Given the description of an element on the screen output the (x, y) to click on. 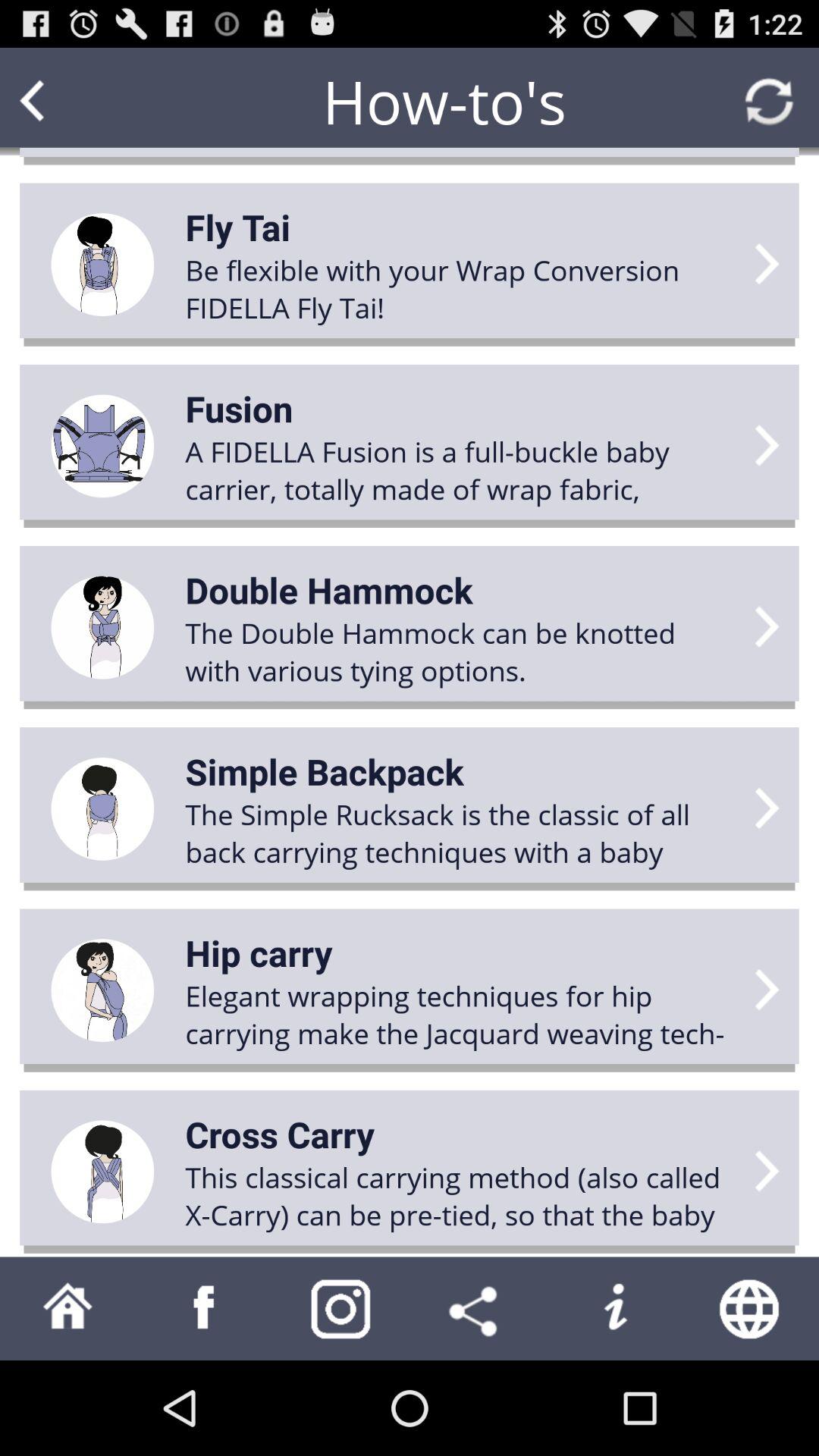
go to suggested website (750, 1308)
